Given the description of an element on the screen output the (x, y) to click on. 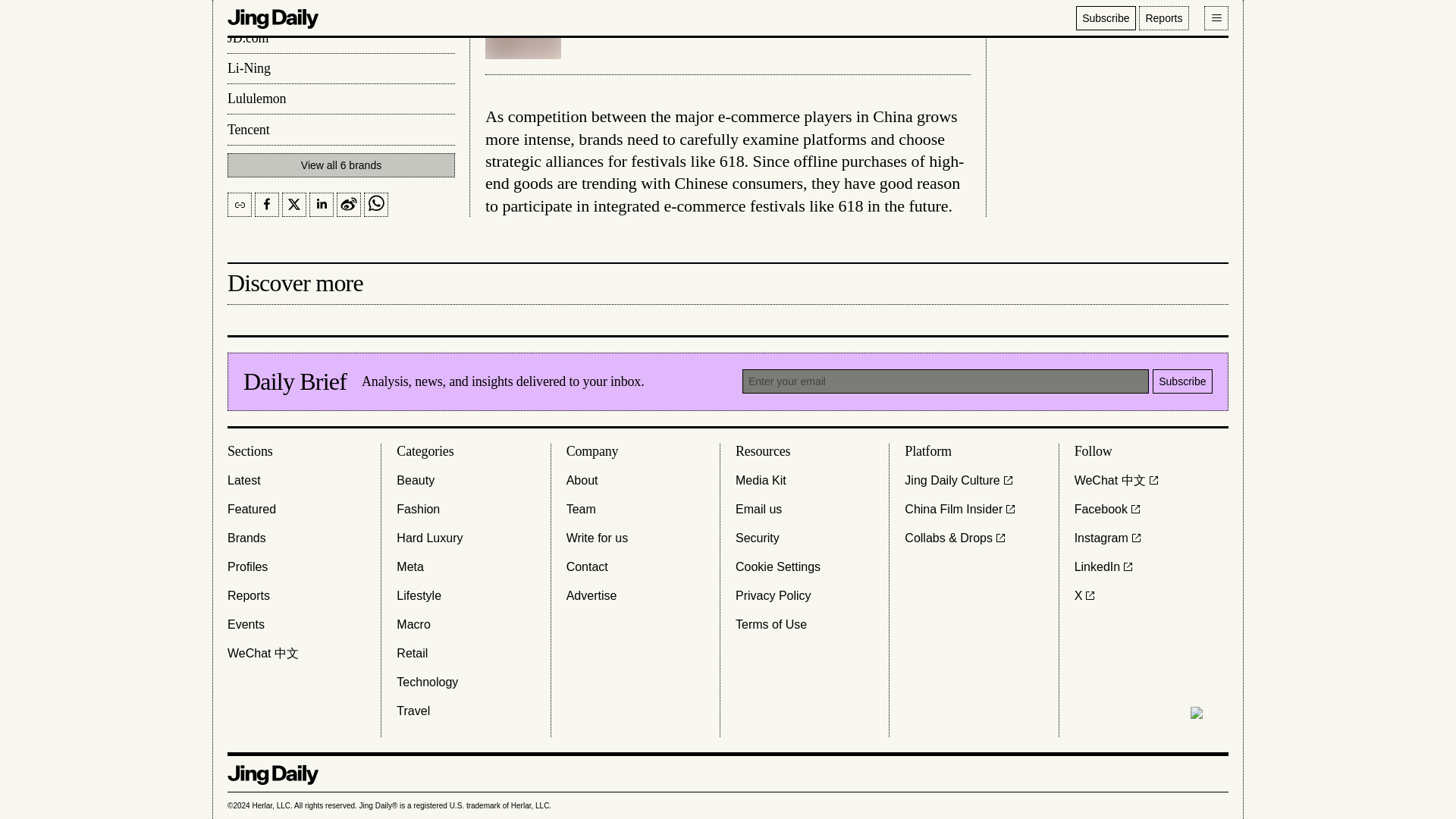
Featured (251, 508)
Reports (248, 595)
Events (245, 623)
Latest (243, 479)
WeChat (262, 652)
Beauty (414, 479)
The 5 Major Digital Trends in China's High-end Retail (727, 29)
Brands (246, 537)
Profiles (247, 566)
